Given the description of an element on the screen output the (x, y) to click on. 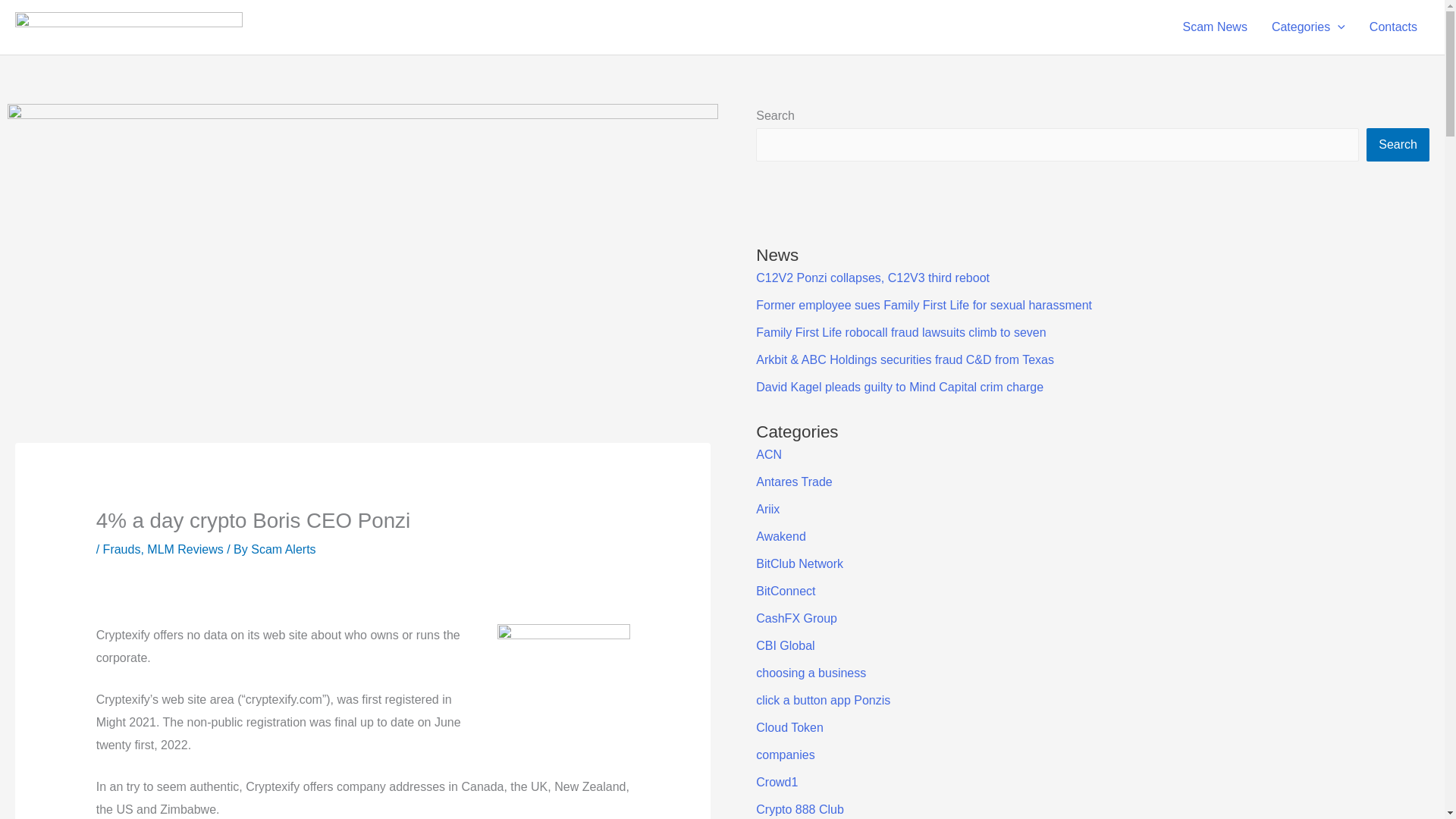
CashFX Group (796, 617)
MLM Reviews (184, 549)
Categories (1307, 27)
BitConnect (785, 590)
David Kagel pleads guilty to Mind Capital crim charge (899, 386)
Crypto 888 Club (799, 809)
click a button app Ponzis (822, 699)
Cloud Token (789, 727)
Frauds (122, 549)
companies (784, 754)
Scam News (1214, 27)
choosing a business (810, 672)
Contacts (1392, 27)
CBI Global (784, 645)
Scam Alerts (282, 549)
